Given the description of an element on the screen output the (x, y) to click on. 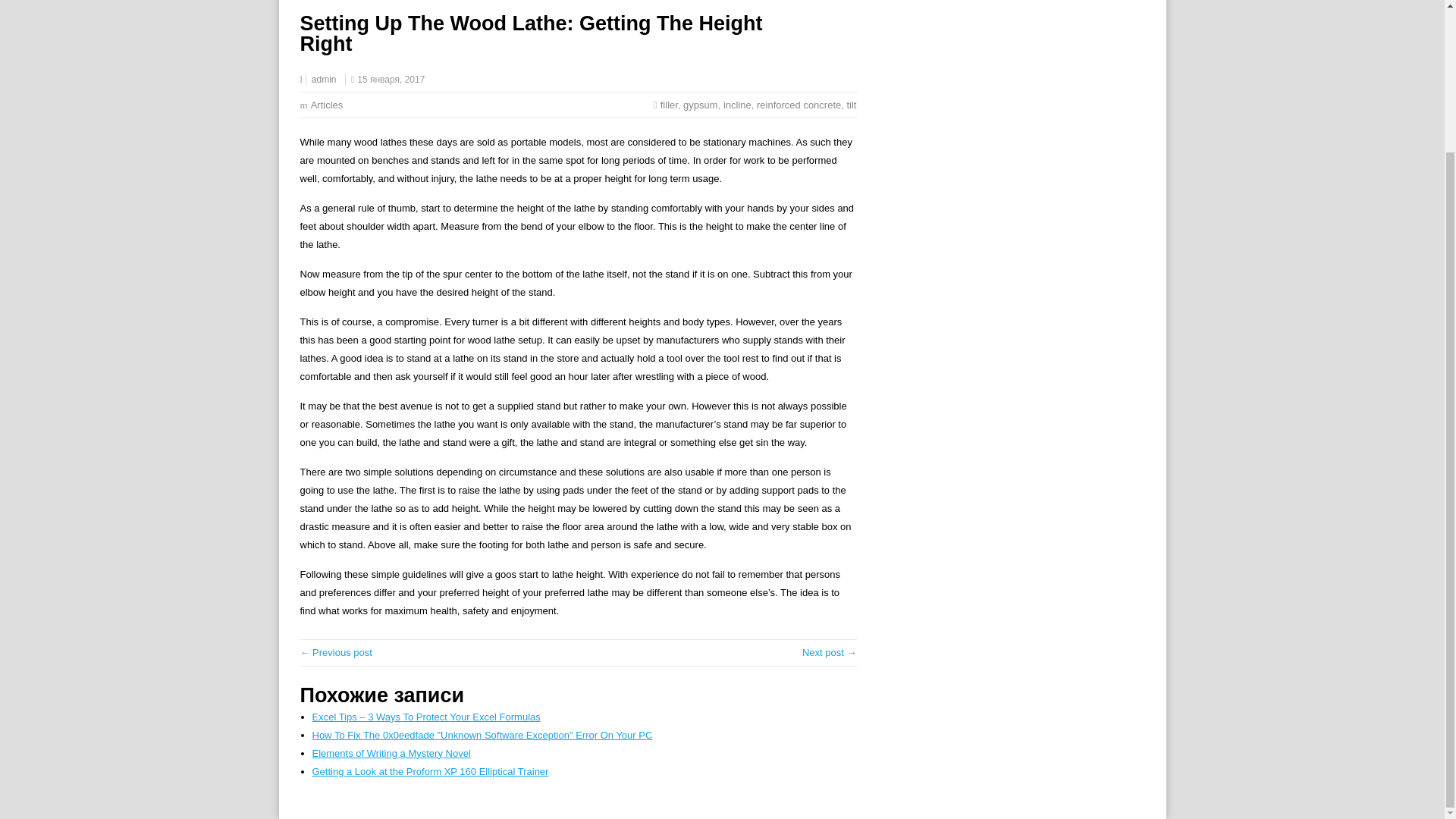
admin (323, 79)
gypsum (699, 104)
reinforced concrete (799, 104)
Wellies for Kids - Do They Have to Fit Perfectly? (335, 652)
Elements of Writing a Mystery Novel (391, 753)
incline (737, 104)
Getting a Look at the Proform XP 160 Elliptical Trainer (430, 771)
Articles (327, 104)
